Given the description of an element on the screen output the (x, y) to click on. 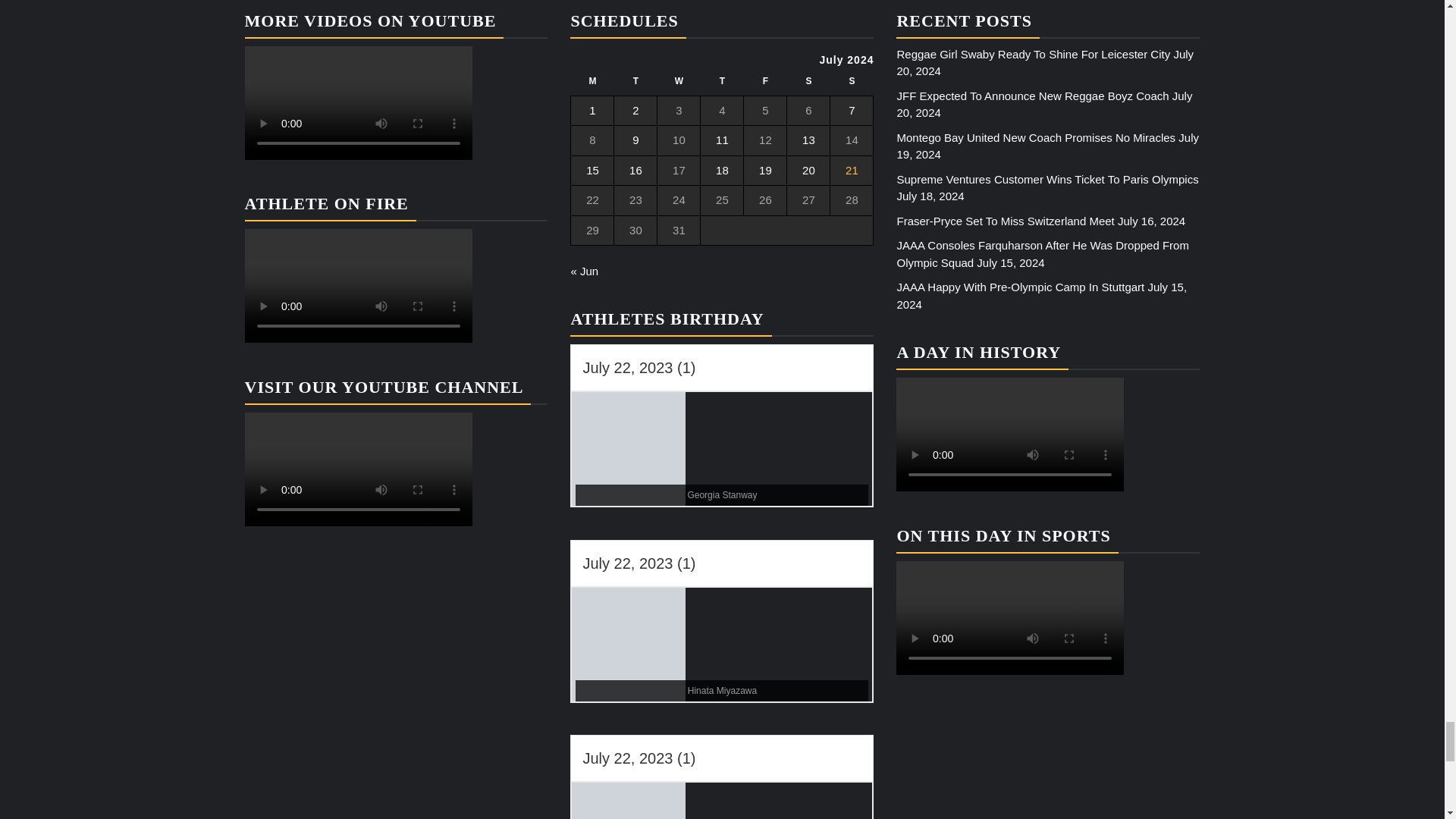
Tuesday (636, 85)
Saturday (808, 85)
Thursday (722, 85)
Sunday (851, 85)
Monday (592, 85)
Friday (765, 85)
Wednesday (679, 85)
